Given the description of an element on the screen output the (x, y) to click on. 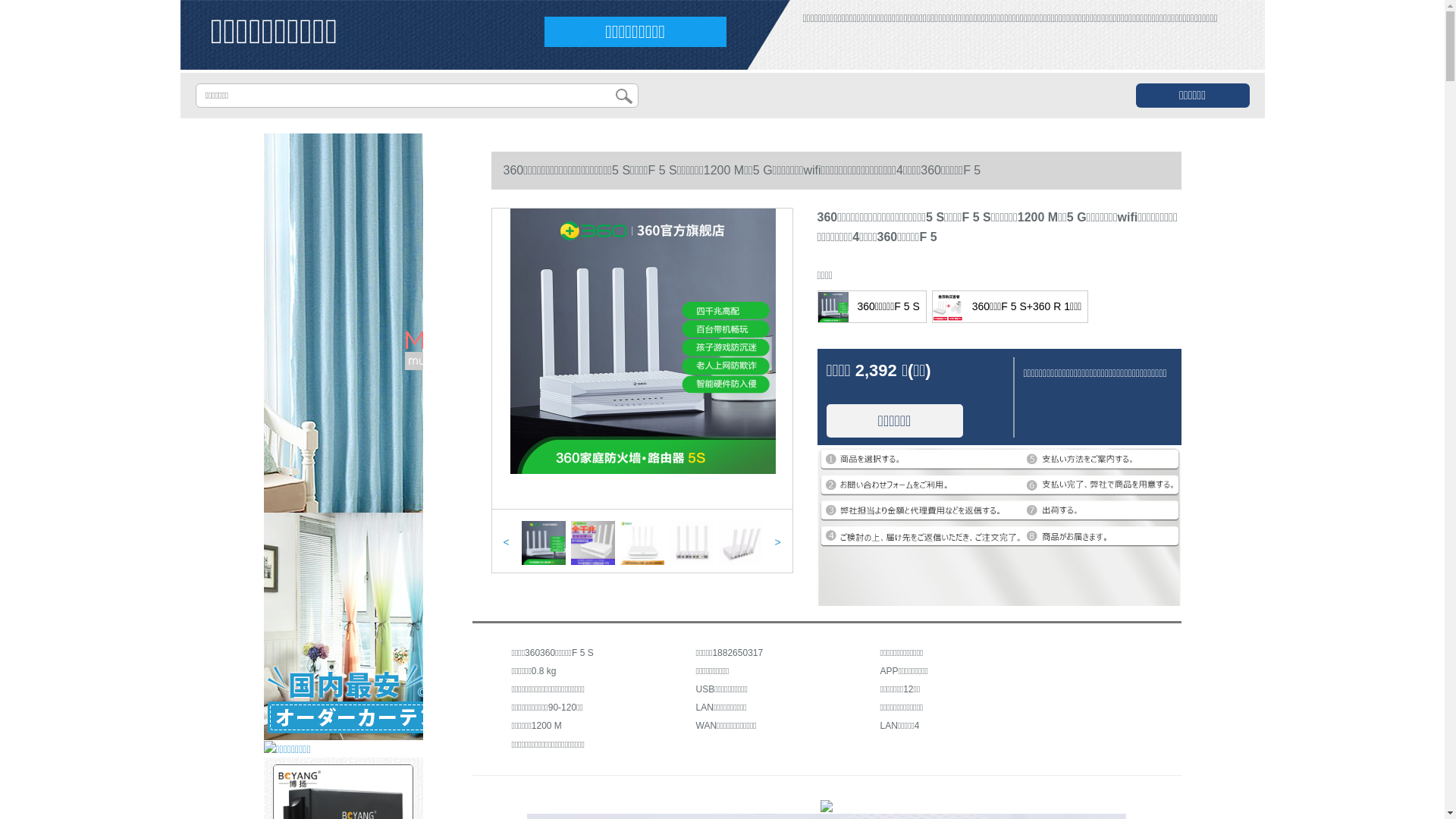
< Element type: text (505, 541)
> Element type: text (776, 541)
